Given the description of an element on the screen output the (x, y) to click on. 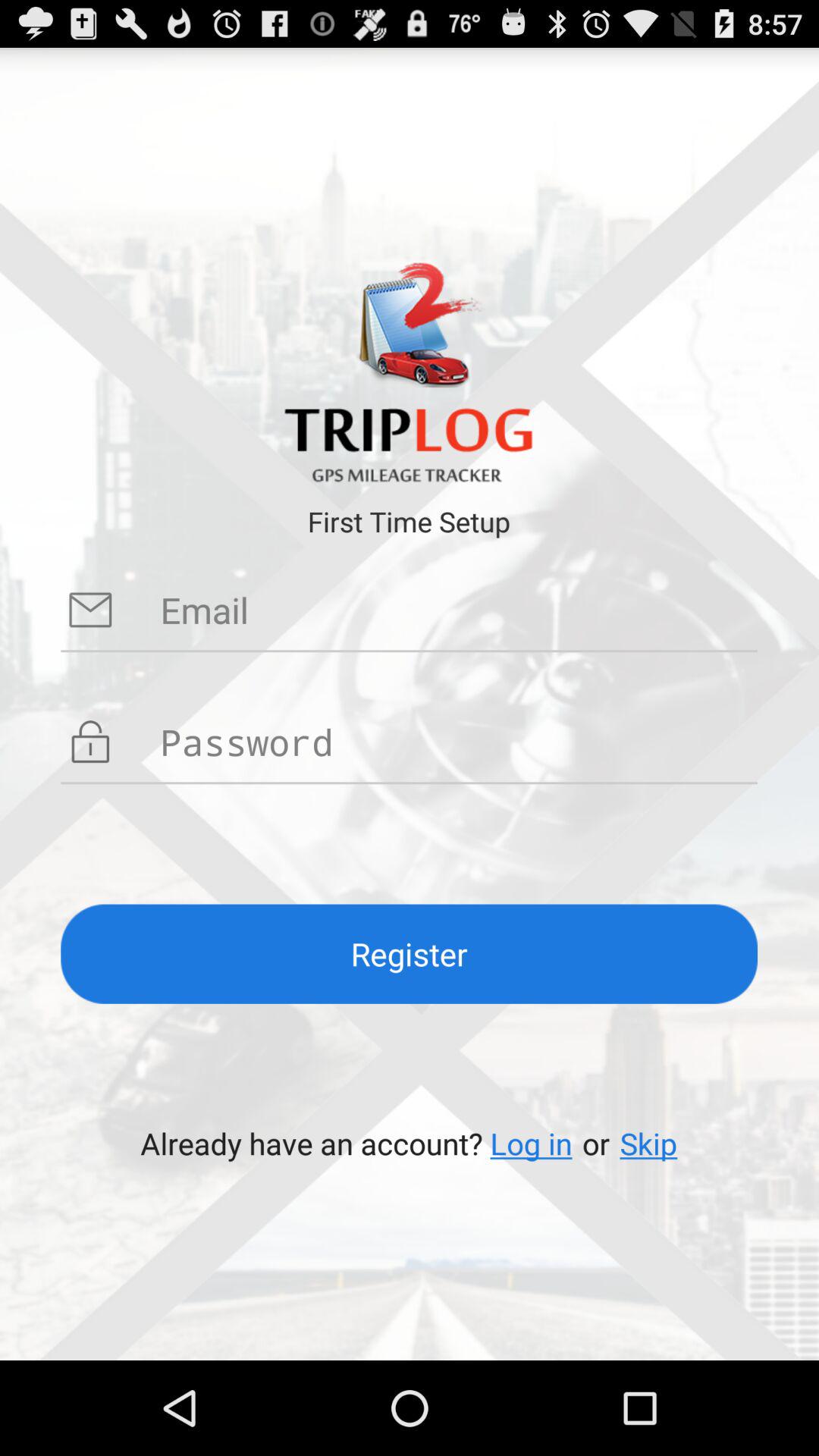
flip to the skip icon (648, 1143)
